Given the description of an element on the screen output the (x, y) to click on. 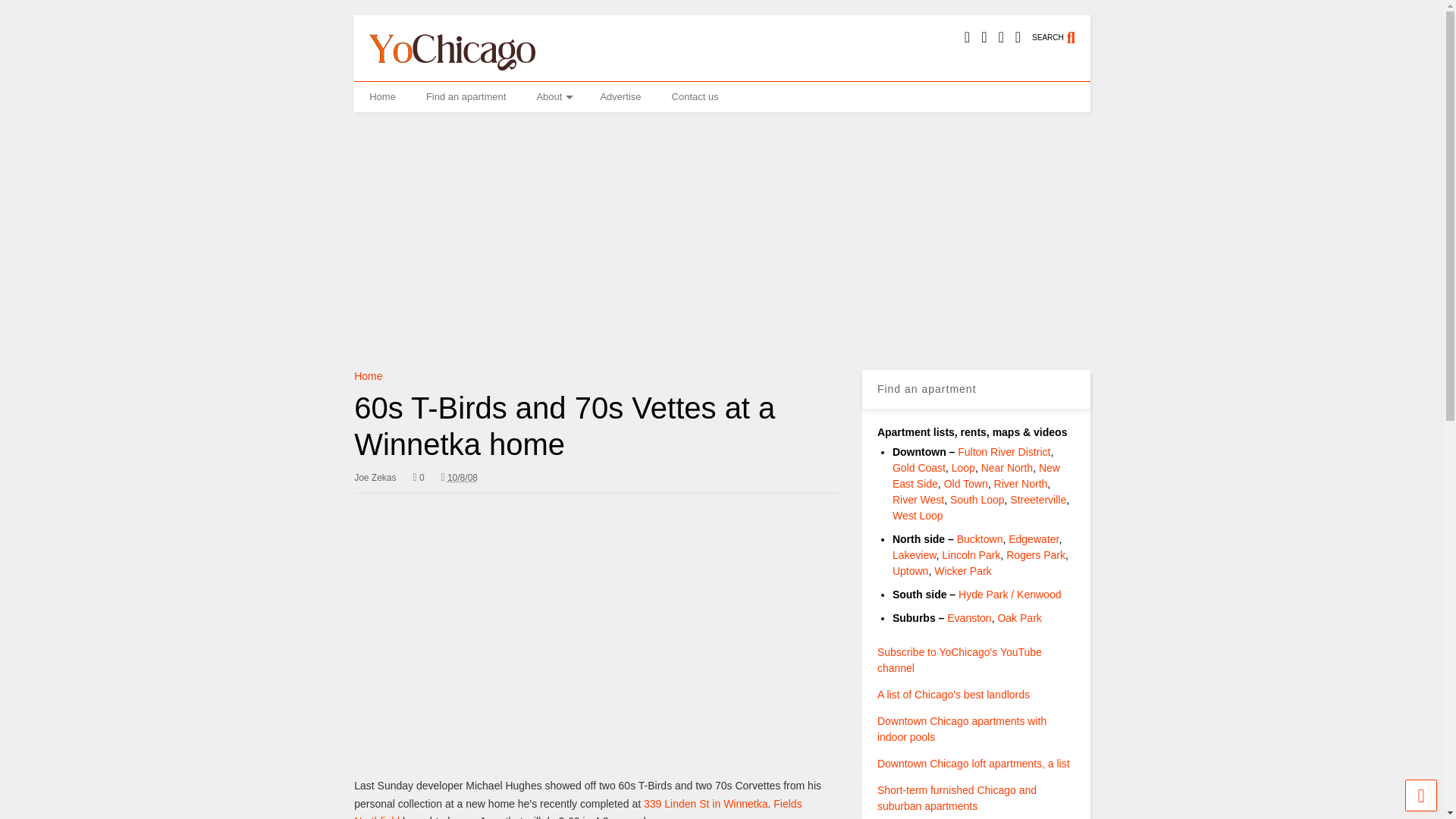
Fields Northfield (577, 808)
Joe Zekas (374, 477)
339 Linden St in Winnetka (705, 803)
Contact us (694, 96)
2008-10-08T19:32:21-05:00 (459, 477)
Advertise (620, 96)
Home (367, 376)
Find an apartment (465, 96)
Joe Zekas (374, 477)
